Given the description of an element on the screen output the (x, y) to click on. 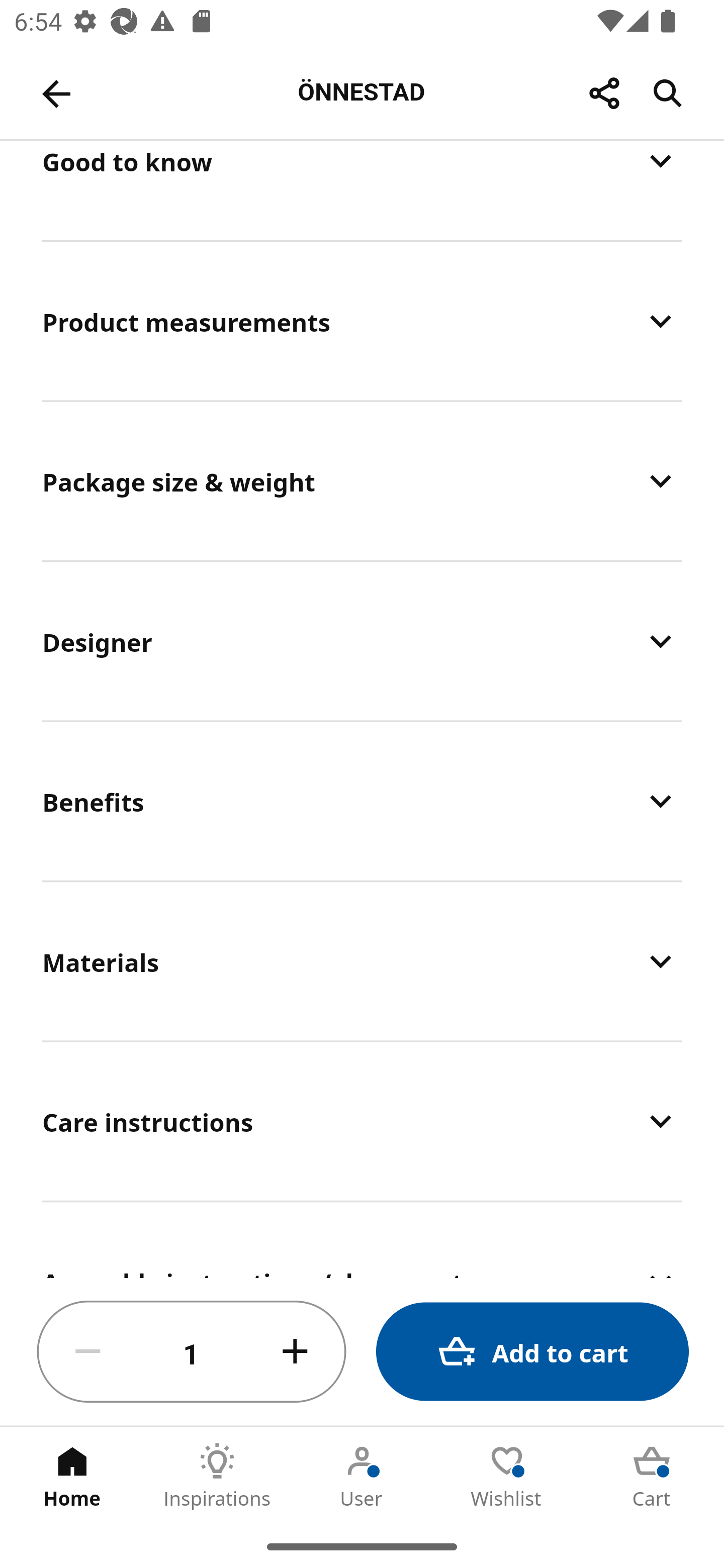
Good to know (361, 189)
Product measurements (361, 320)
Package size & weight (361, 480)
Designer (361, 641)
Benefits (361, 801)
Materials (361, 961)
Care instructions (361, 1120)
Add to cart (531, 1352)
1 (191, 1352)
Home
Tab 1 of 5 (72, 1476)
Inspirations
Tab 2 of 5 (216, 1476)
User
Tab 3 of 5 (361, 1476)
Wishlist
Tab 4 of 5 (506, 1476)
Cart
Tab 5 of 5 (651, 1476)
